Given the description of an element on the screen output the (x, y) to click on. 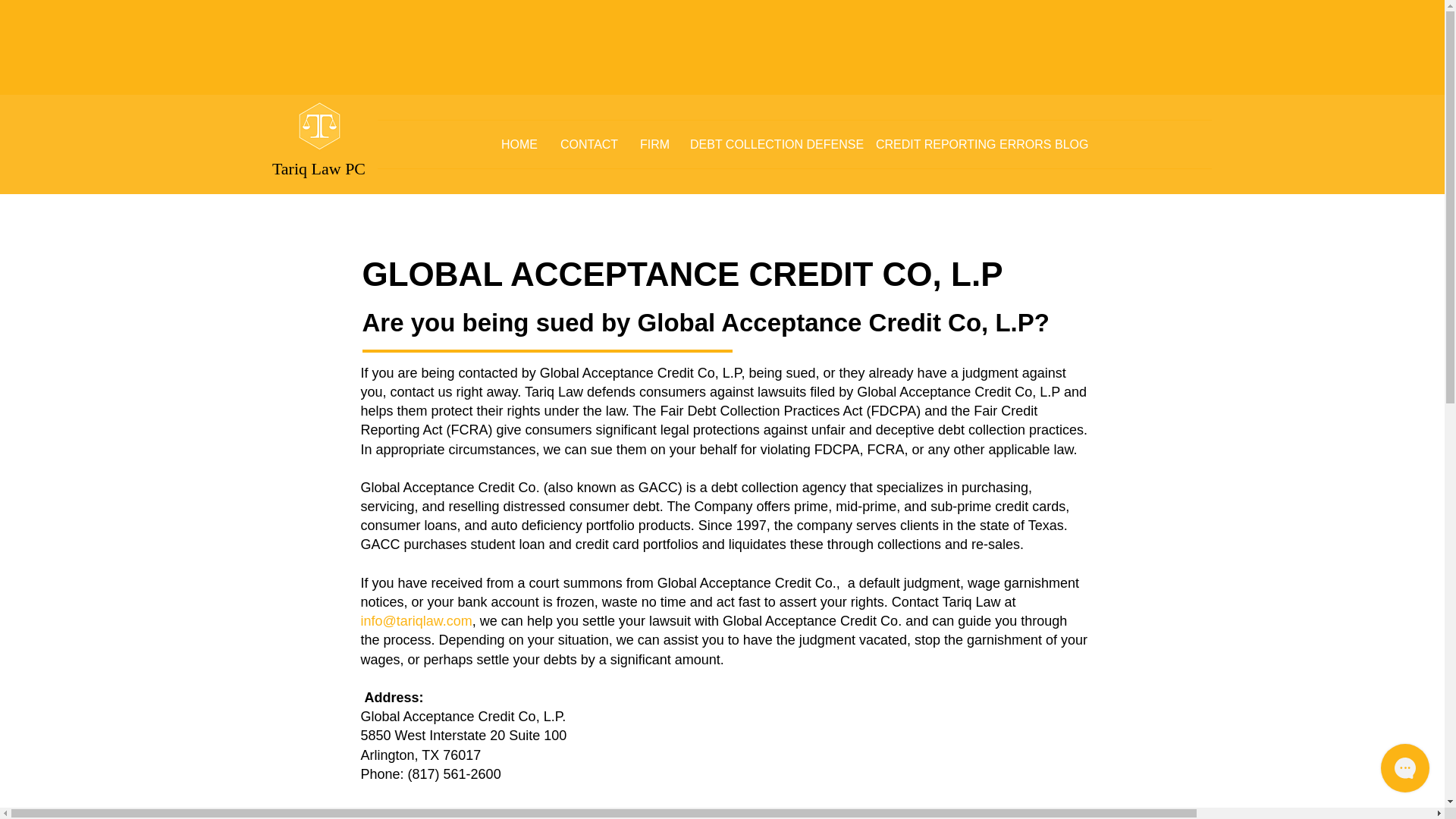
FIRM (653, 144)
CONTACT (588, 144)
BLOG (1071, 144)
HOME (518, 144)
CREDIT REPORTING ERRORS (953, 144)
DEBT COLLECTION DEFENSE (771, 144)
Wix Chat (1408, 771)
